Given the description of an element on the screen output the (x, y) to click on. 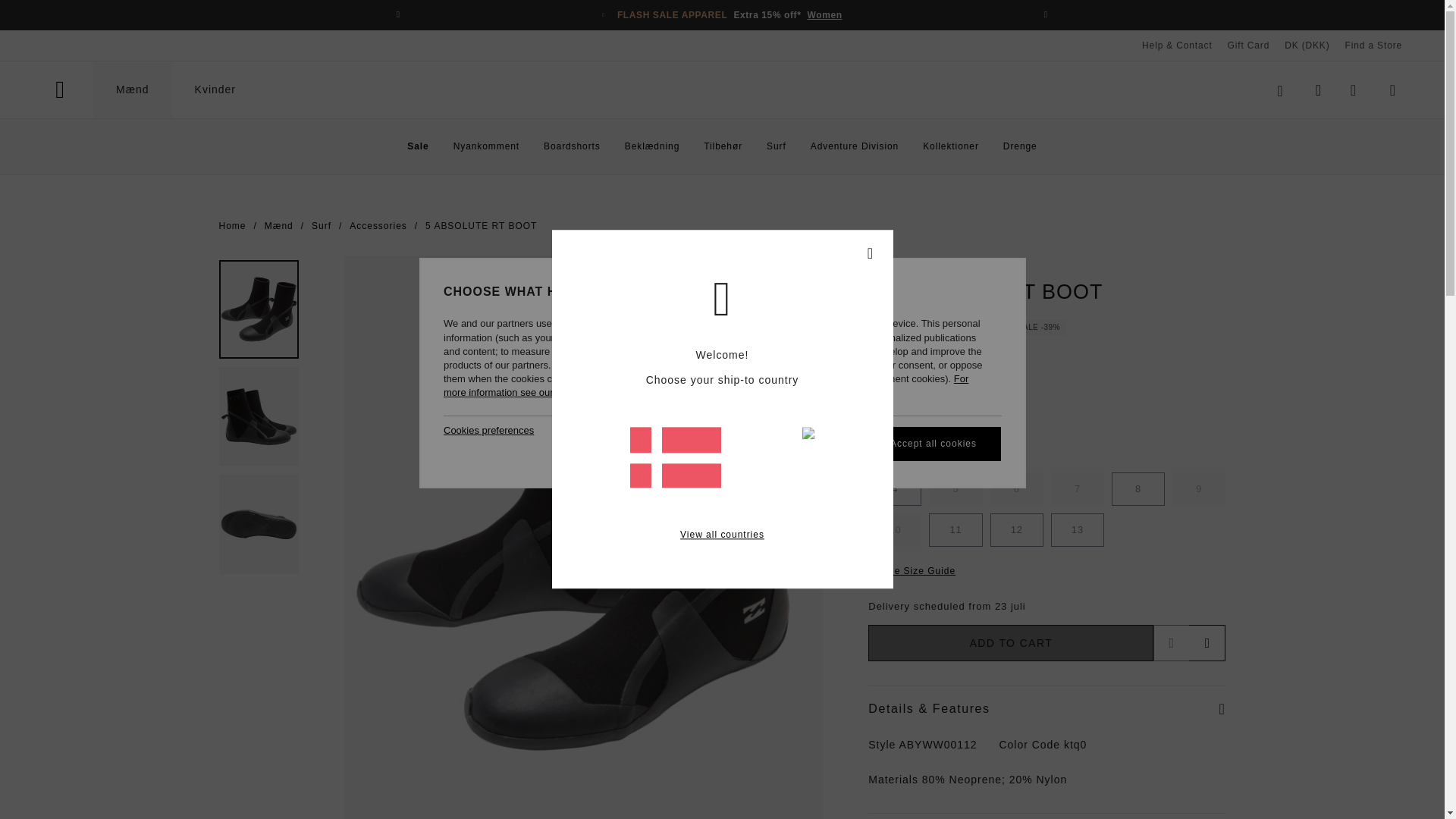
Surf (321, 225)
Nyankomment (485, 145)
Women (823, 15)
Home (232, 225)
Wish list (1353, 89)
Accessories (377, 225)
Cart (1393, 89)
Find a Store (1373, 45)
Gift Card (1248, 45)
Region and language settings (1306, 45)
Search (1279, 89)
Boardshorts (571, 145)
